Given the description of an element on the screen output the (x, y) to click on. 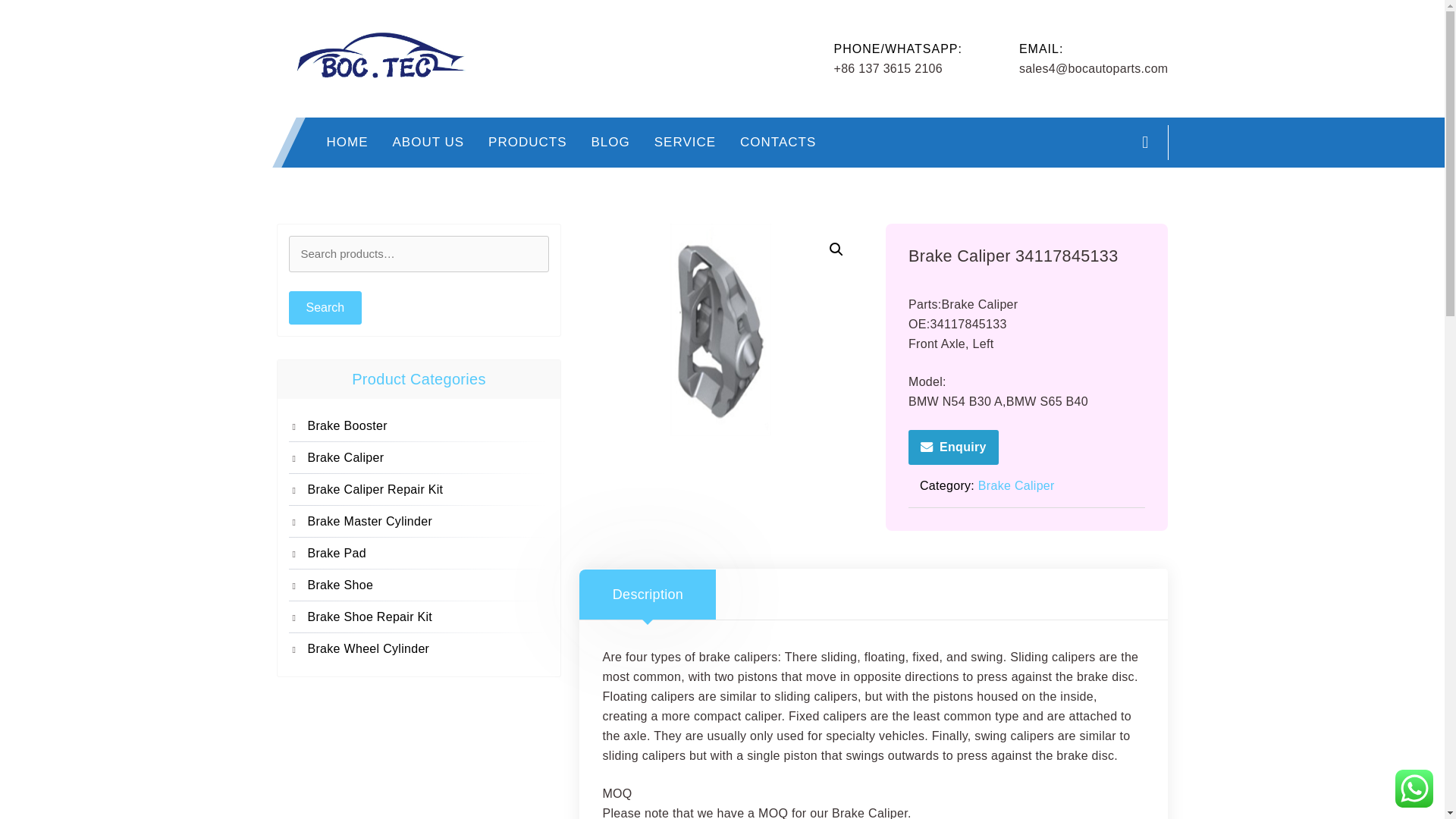
PRODUCTS (527, 142)
Description (647, 594)
Search (324, 307)
Brake Caliper Repair Kit (428, 489)
Brake Booster (428, 425)
Brake Shoe (428, 585)
34117845133 (720, 328)
CONTACTS (778, 142)
Brake Wheel Cylinder (428, 649)
Brake Shoe Repair Kit (428, 617)
SERVICE (685, 142)
Enquiry (953, 447)
Brake Pad (428, 553)
Brake Master Cylinder (428, 521)
Brake Caliper (428, 457)
